Given the description of an element on the screen output the (x, y) to click on. 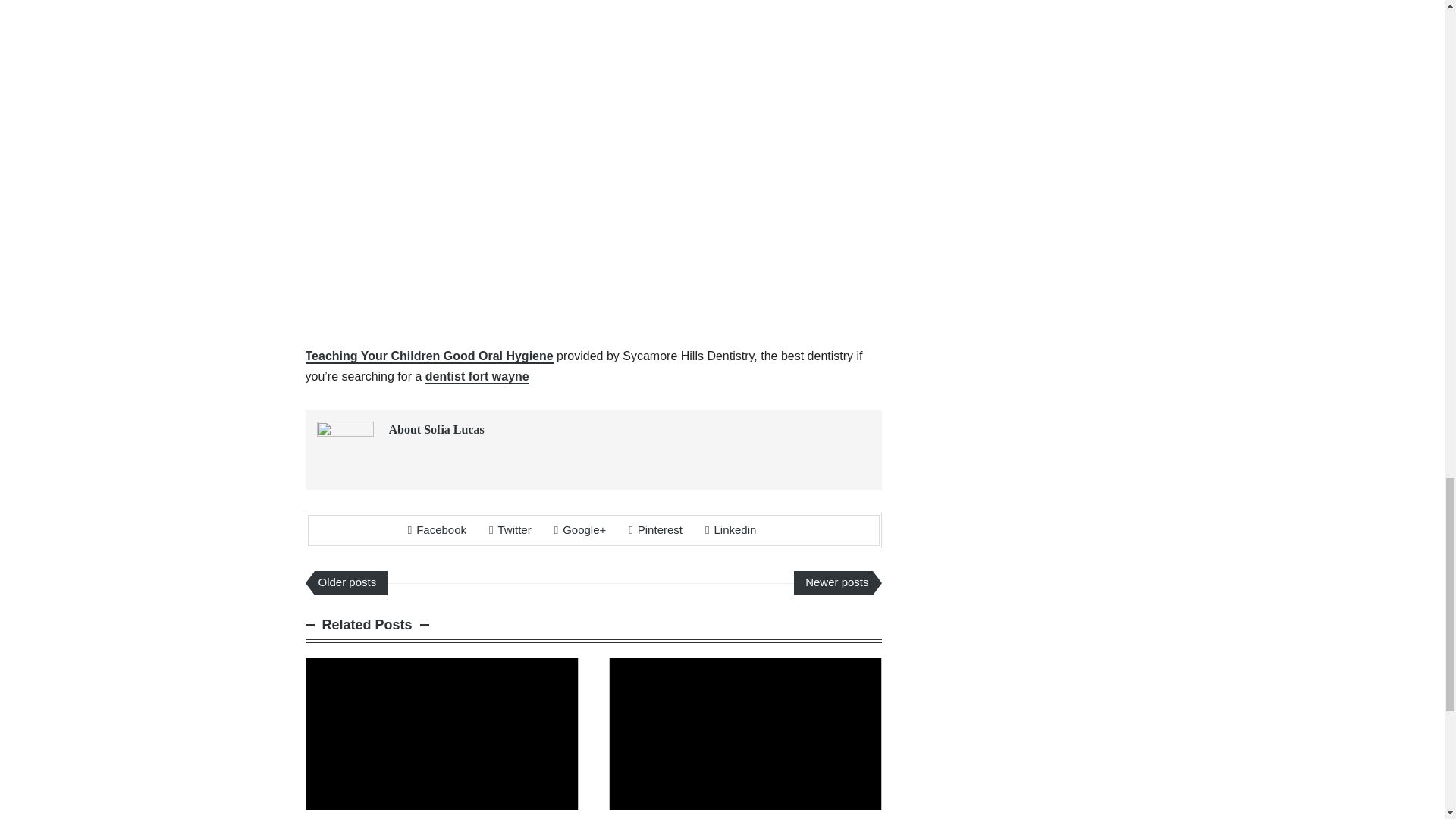
Twitter (510, 529)
Teaching Your Children Good Oral Hygiene (428, 356)
Teaching Your Children Good Oral Hygiene (428, 356)
Newer posts (832, 582)
Linkedin (729, 529)
Pinterest (655, 529)
dentist fort wayne (477, 377)
Facebook (436, 529)
Older posts (350, 582)
